Given the description of an element on the screen output the (x, y) to click on. 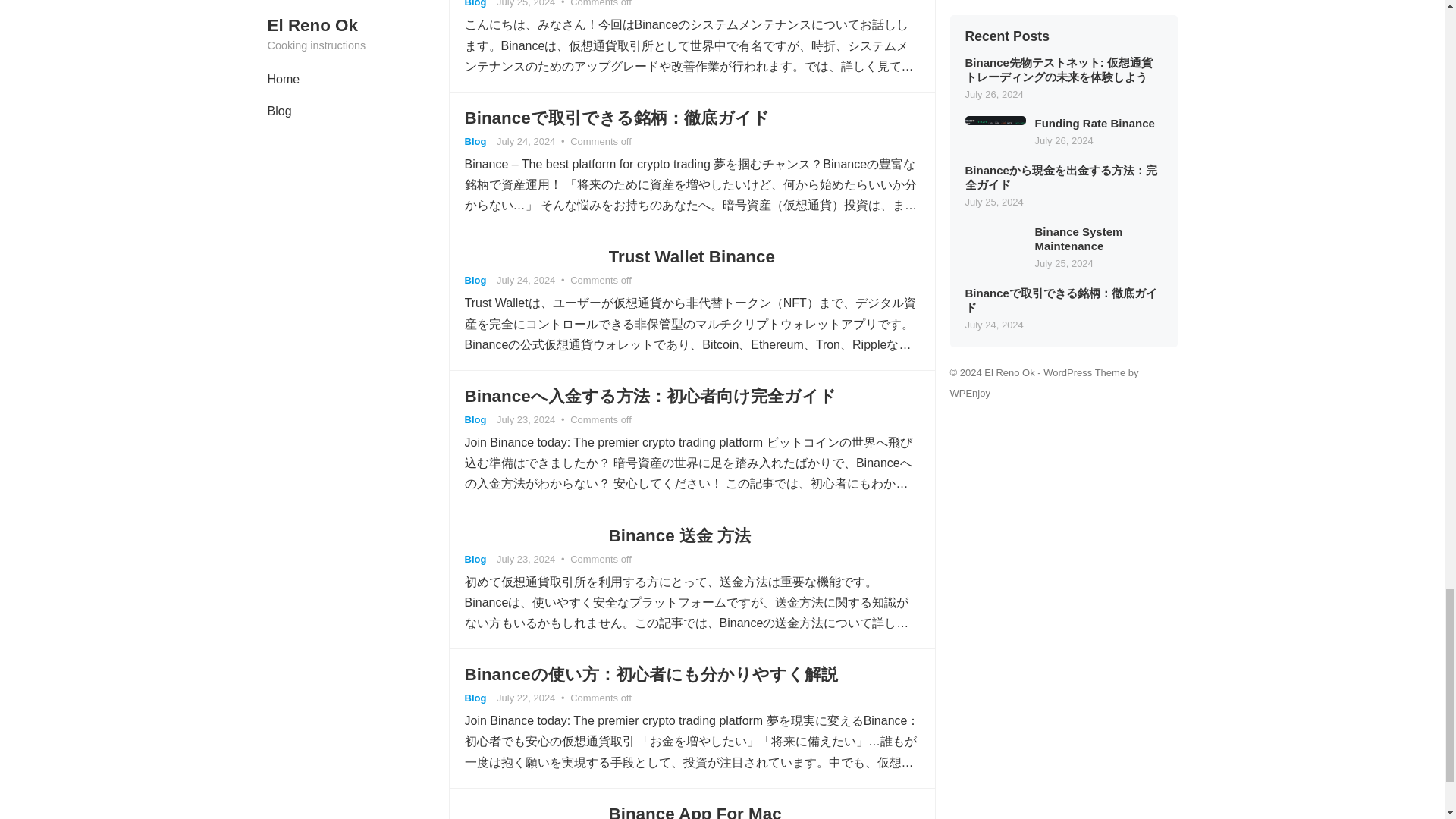
Blog (475, 3)
Trust Wallet Binance (691, 256)
Blog (475, 279)
Blog (475, 141)
Blog (475, 419)
